Given the description of an element on the screen output the (x, y) to click on. 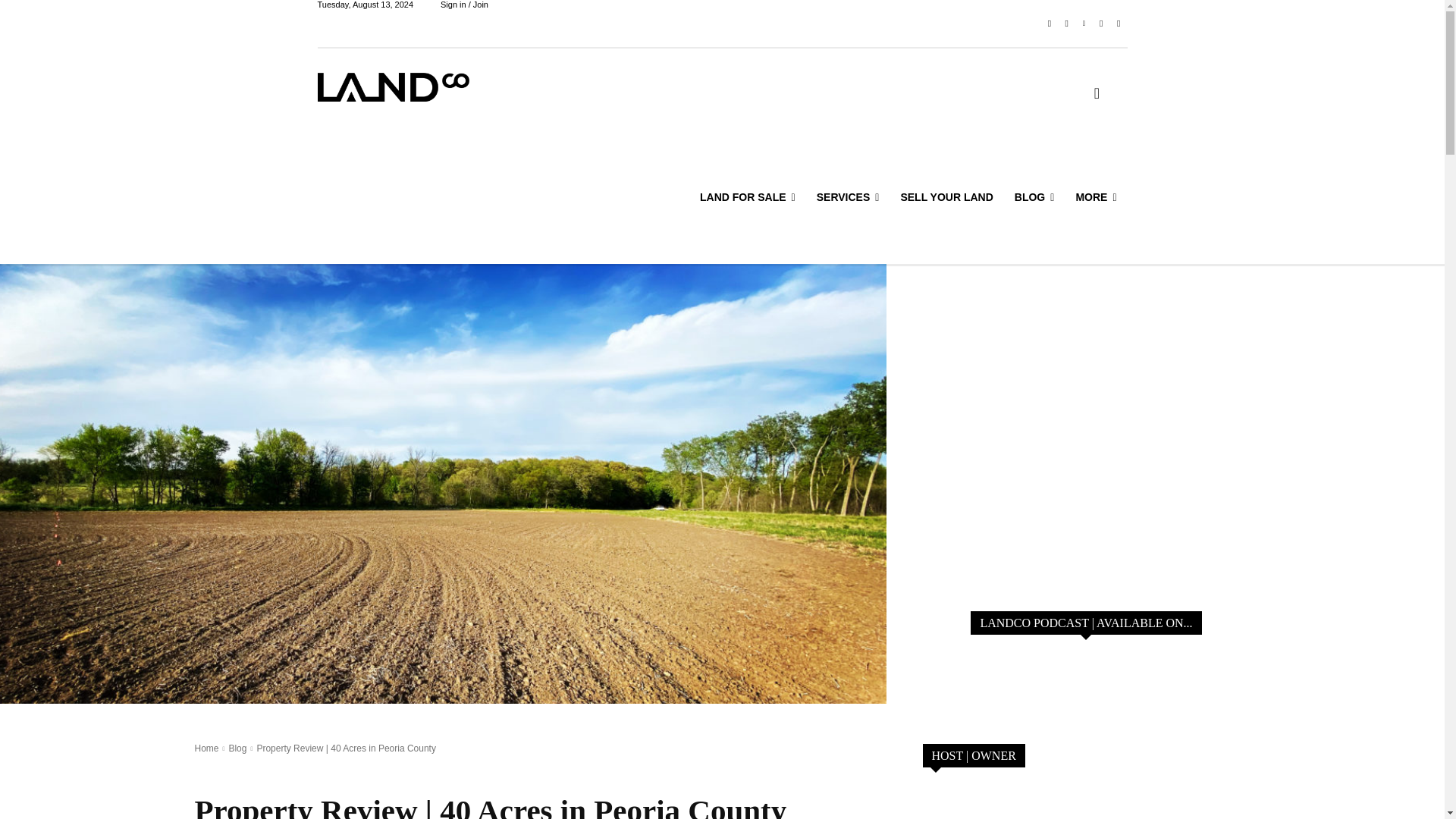
View all posts in Blog (237, 747)
Linkedin (1084, 23)
LAND FOR SALE (747, 197)
Facebook (1049, 23)
Instagram (1066, 23)
Twitter (1101, 23)
Youtube (1117, 23)
